Given the description of an element on the screen output the (x, y) to click on. 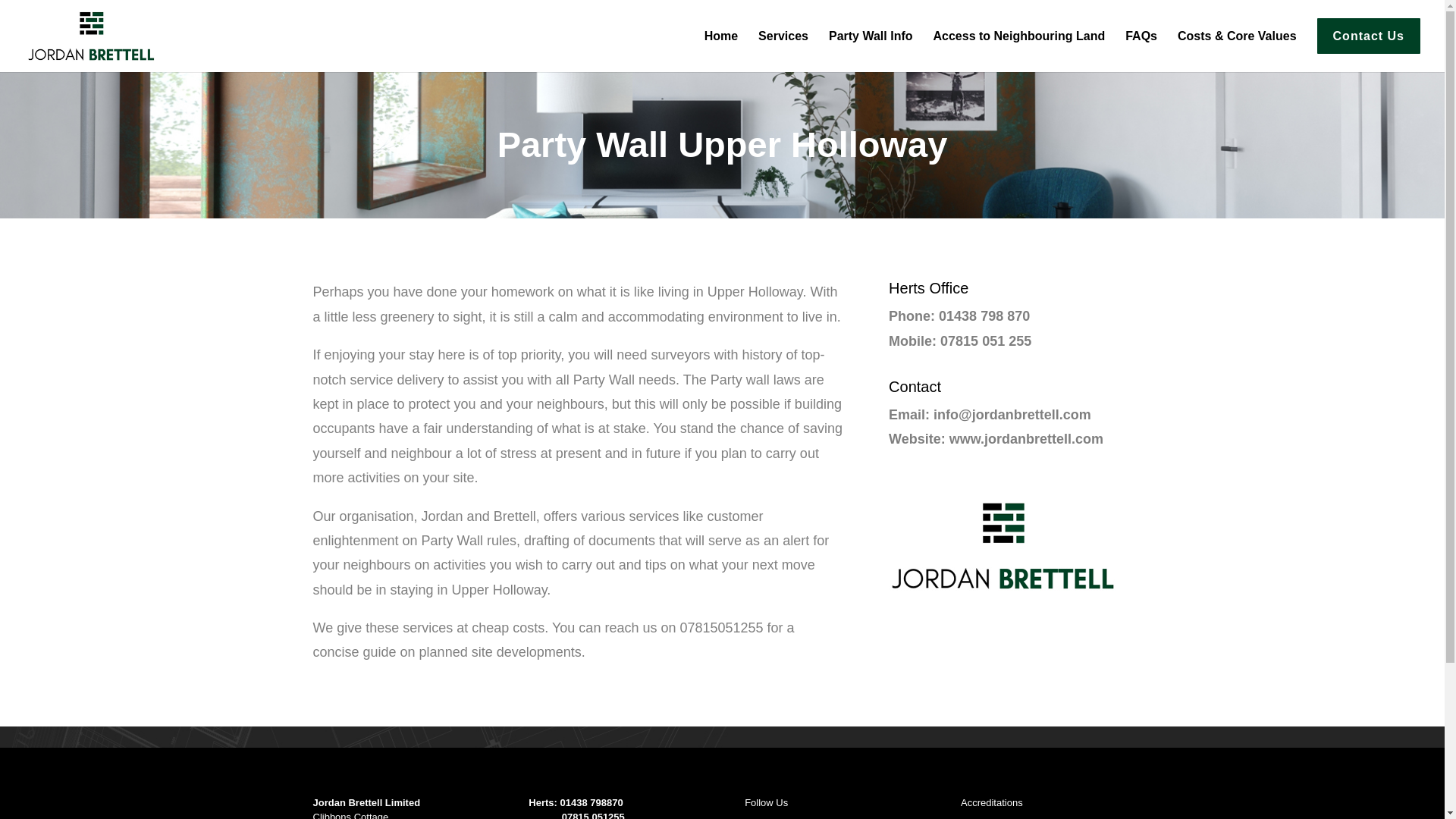
Access to Neighbouring Land (1019, 45)
Home (721, 45)
FAQs (1141, 45)
Party Wall Info (870, 45)
Contact Us (1369, 45)
Services (783, 45)
